Given the description of an element on the screen output the (x, y) to click on. 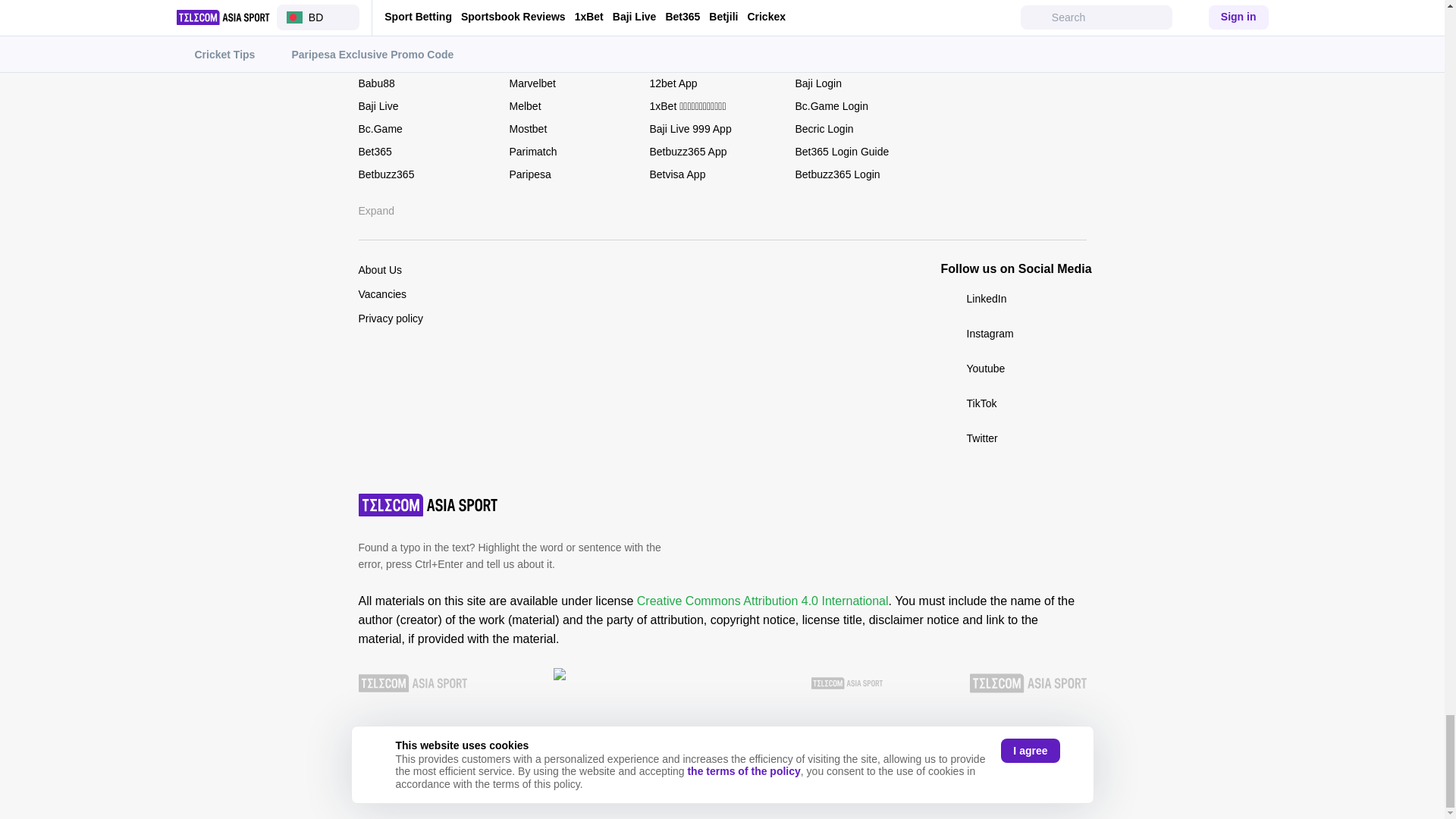
Instagram (1013, 334)
LinkedIn (1013, 299)
Twitter (1013, 438)
gambling-therapy (846, 683)
Youtube (1013, 369)
begambleaware (411, 683)
TikTok (1013, 403)
Responsible Gambling (1027, 683)
trustpilot (688, 683)
